Given the description of an element on the screen output the (x, y) to click on. 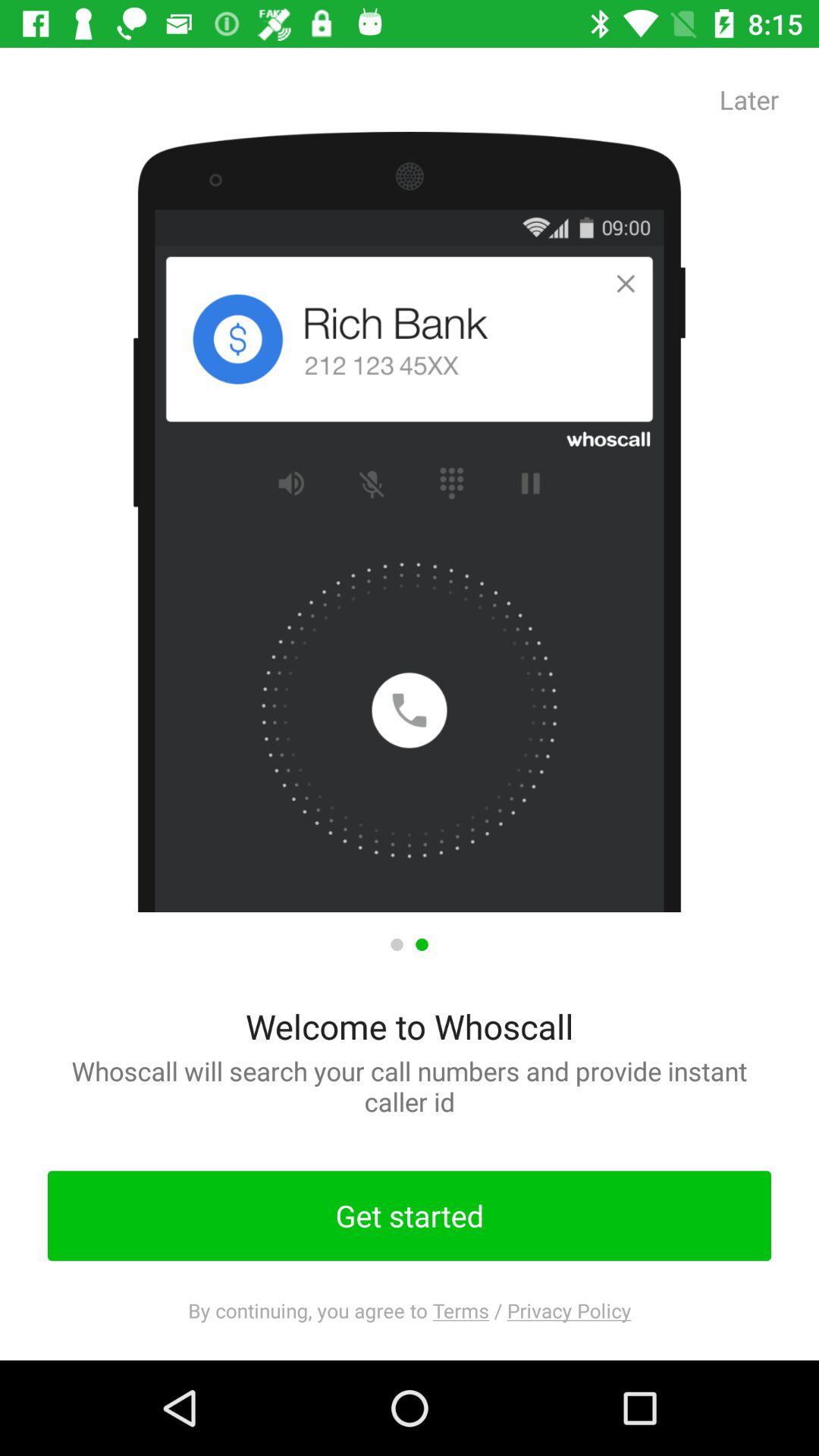
scroll to the get started icon (409, 1215)
